Given the description of an element on the screen output the (x, y) to click on. 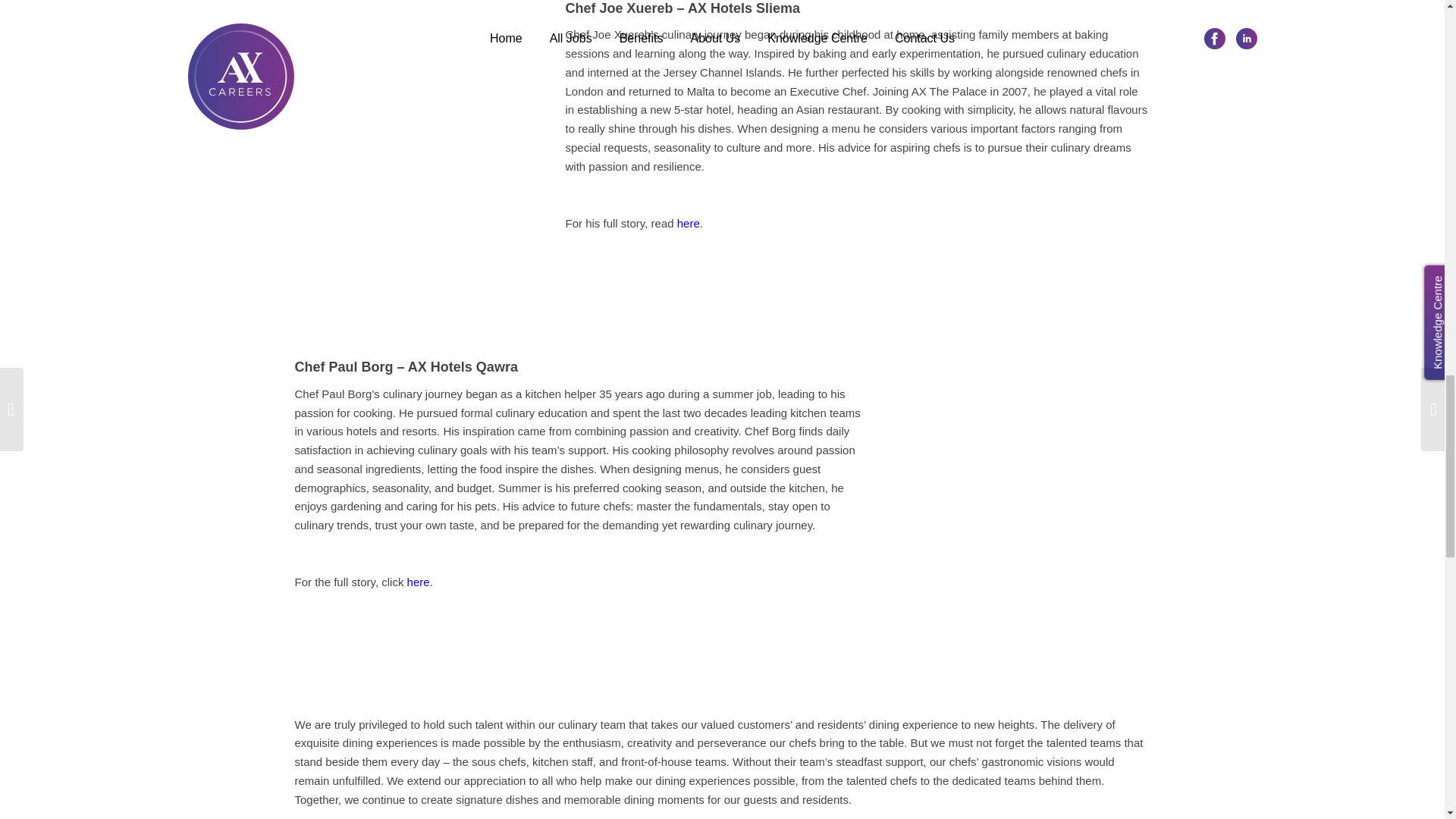
here (418, 581)
here (688, 223)
